Given the description of an element on the screen output the (x, y) to click on. 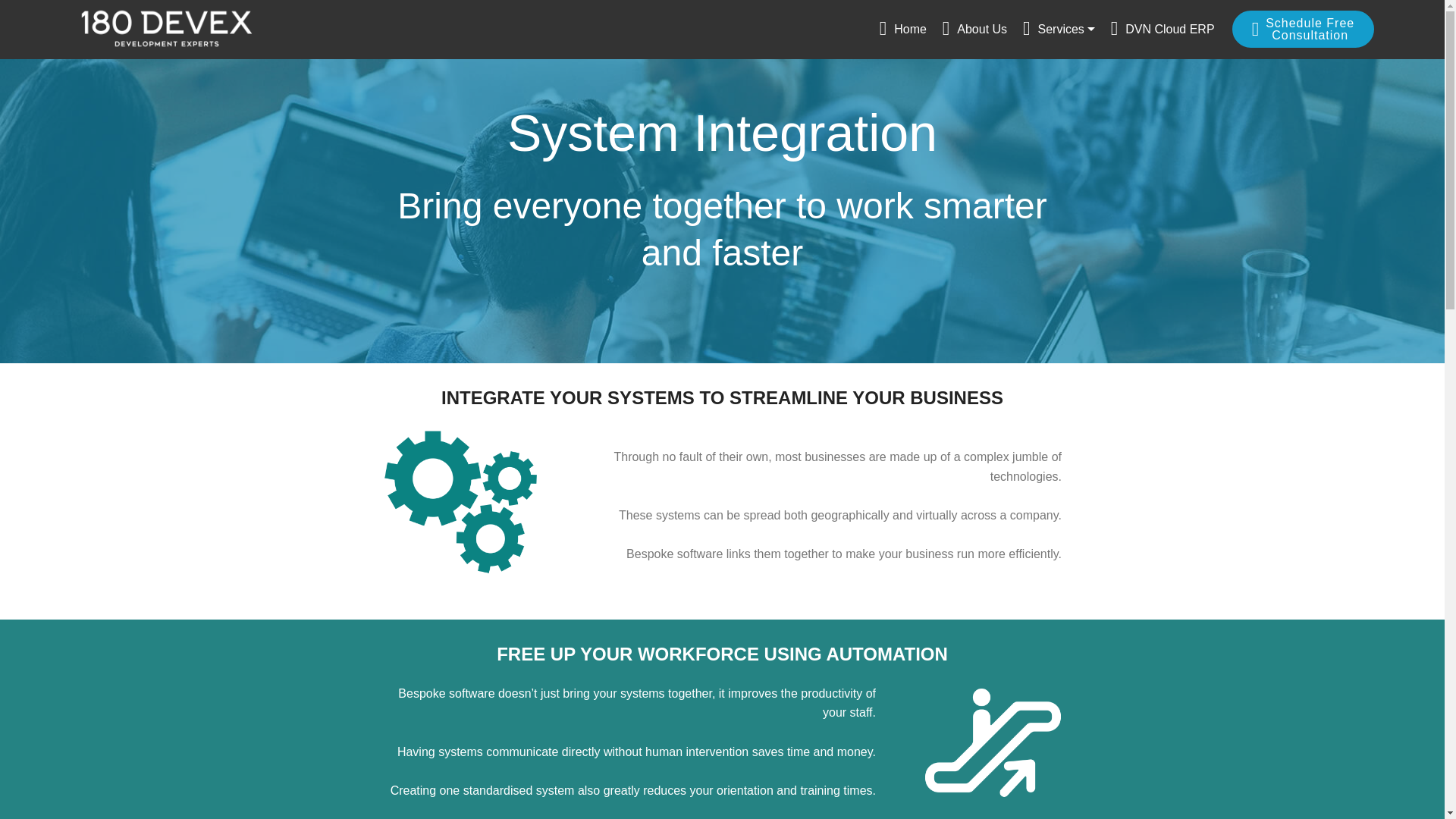
About Us (974, 29)
Home (902, 29)
DVN Cloud ERP (1162, 29)
Services (1058, 29)
